Given the description of an element on the screen output the (x, y) to click on. 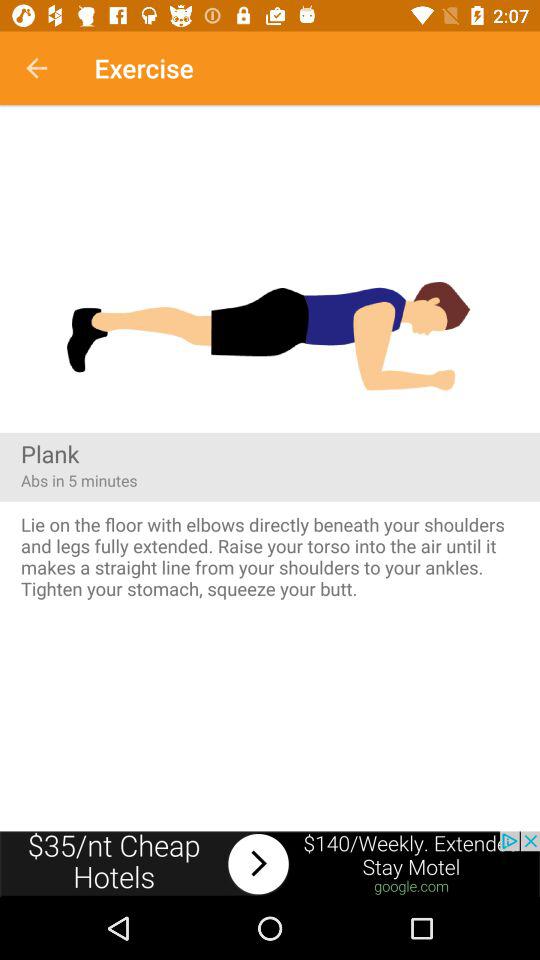
open advertisement (270, 864)
